Given the description of an element on the screen output the (x, y) to click on. 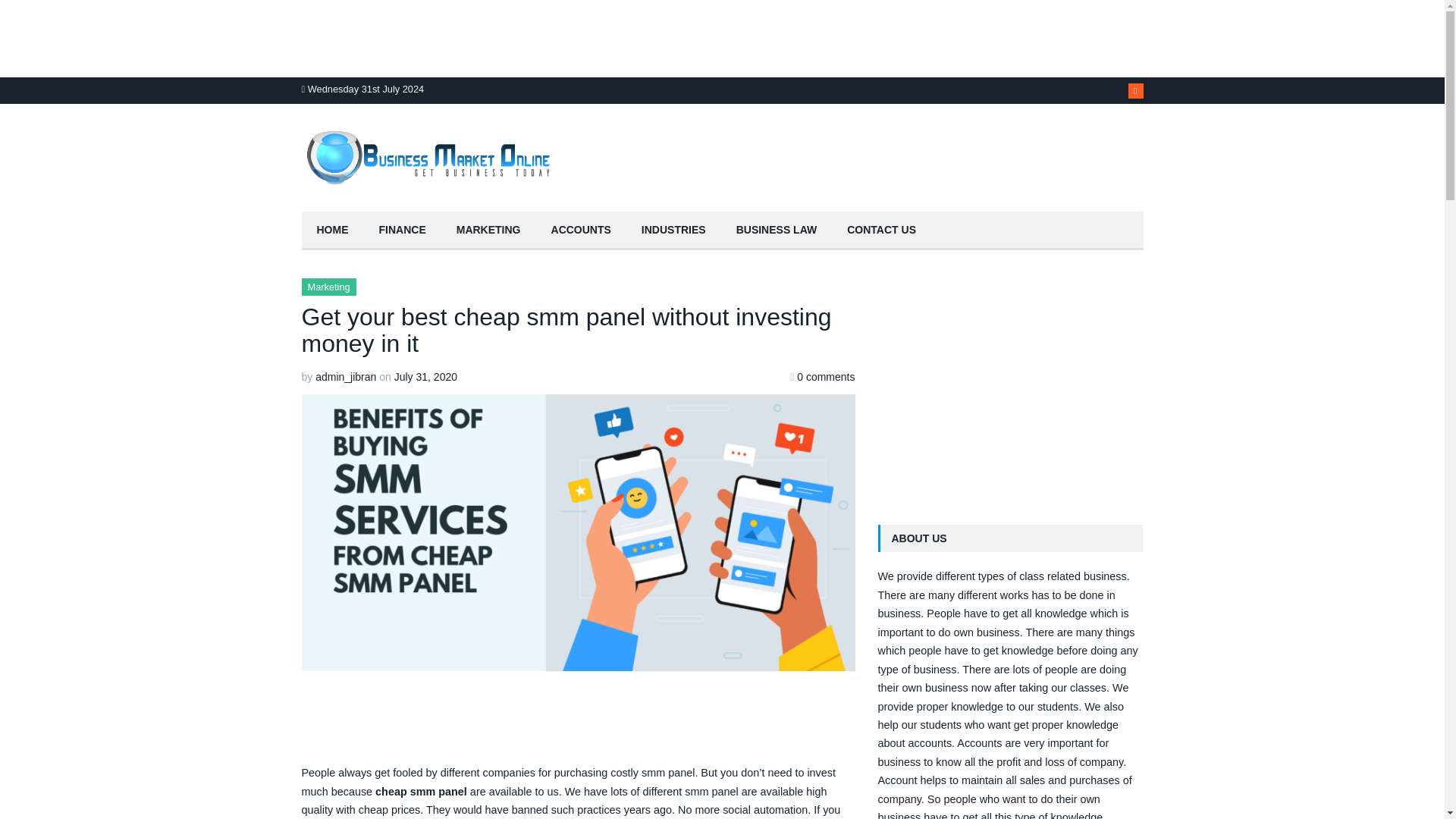
Home (332, 230)
Contact Us (881, 230)
Accounts (580, 230)
Marketing (488, 230)
FINANCE (402, 230)
HOME (332, 230)
INDUSTRIES (673, 230)
MARKETING (488, 230)
Finance (402, 230)
Industries (673, 230)
Advertisement (1009, 384)
July 31, 2020 (425, 377)
cheap smm panel (421, 791)
ACCOUNTS (580, 230)
CONTACT US (881, 230)
